Given the description of an element on the screen output the (x, y) to click on. 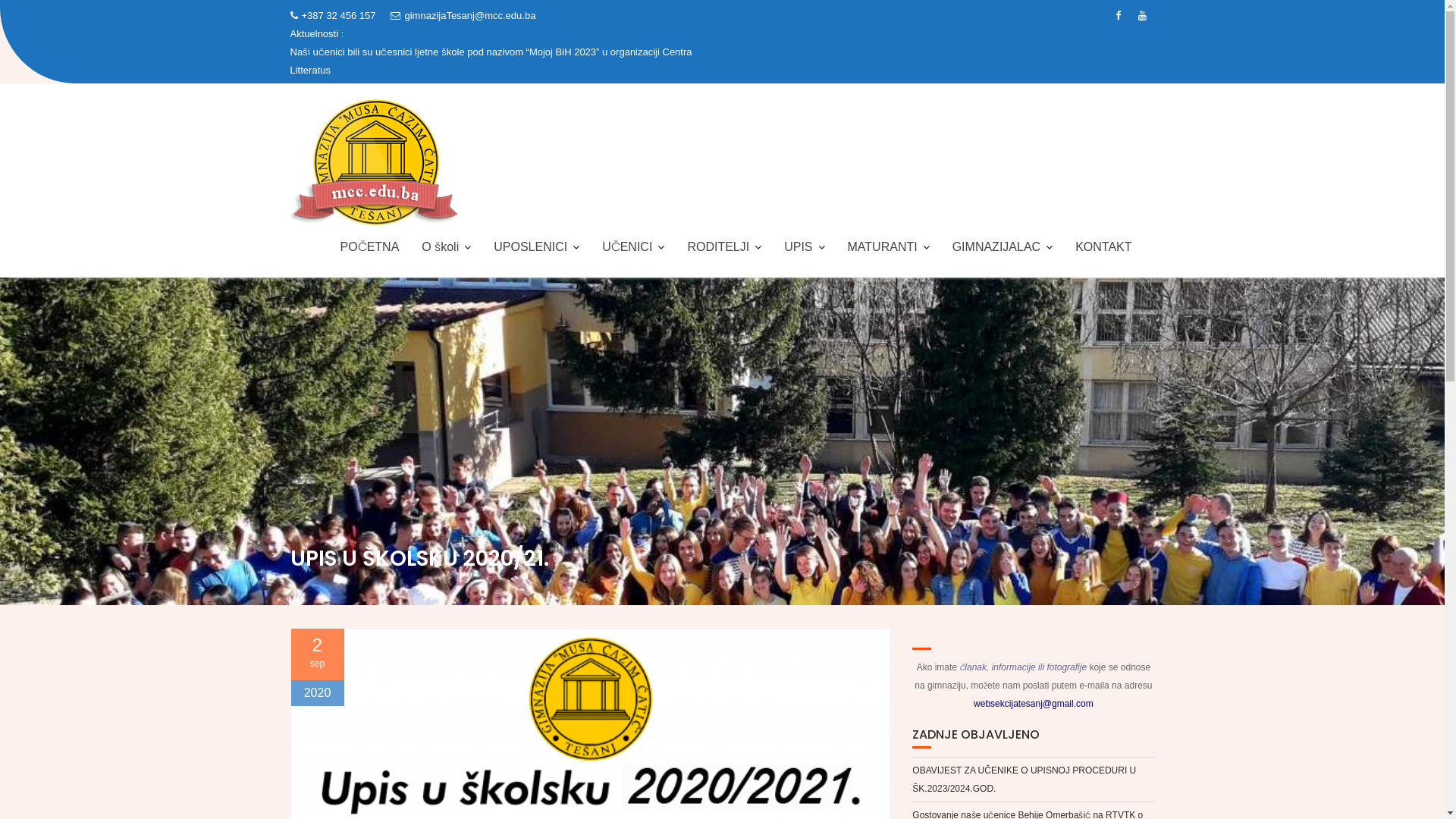
GIMNAZIJALAC Element type: text (1002, 247)
RODITELJI Element type: text (723, 247)
Facebook Element type: hover (1117, 15)
UPOSLENICI Element type: text (536, 247)
KONTAKT Element type: text (1102, 247)
Youtube Element type: hover (1141, 15)
gimnazijaTesanj@mcc.edu.ba Element type: text (462, 15)
MATURANTI Element type: text (888, 247)
UPIS Element type: text (803, 247)
